Given the description of an element on the screen output the (x, y) to click on. 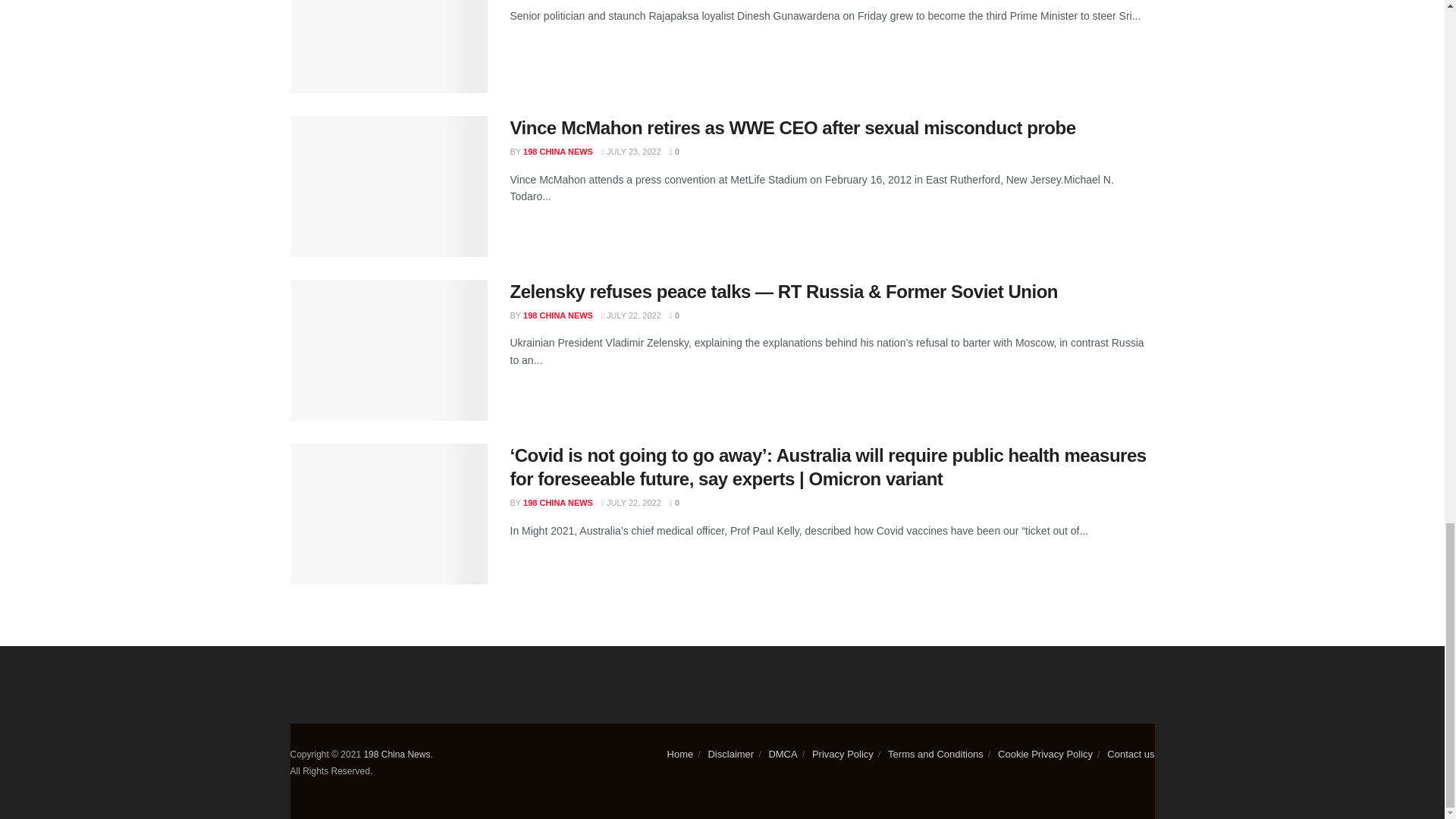
198 China News (395, 754)
